Given the description of an element on the screen output the (x, y) to click on. 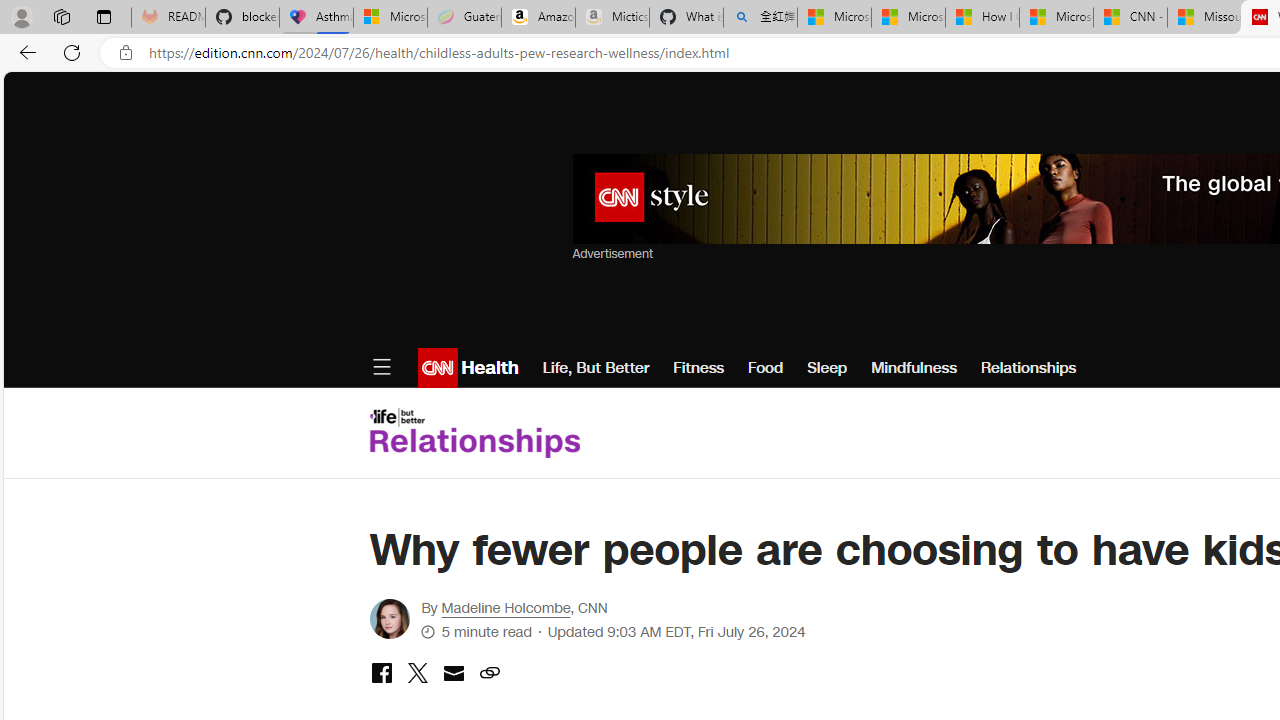
Mindfulness (913, 367)
Class: icon-social-twitter (417, 672)
Food (765, 367)
CNN logo (437, 367)
Class: icon-social-facebook (381, 672)
Class: icon-social-email-fill (453, 672)
Madeline Holcombe (505, 608)
share with email (453, 675)
copy link to clipboard (489, 674)
